Given the description of an element on the screen output the (x, y) to click on. 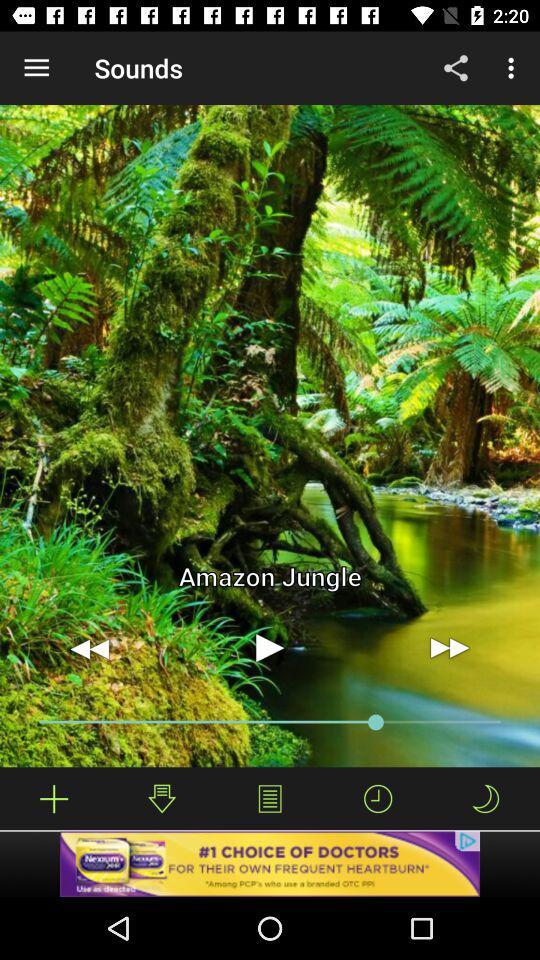
view blink option (485, 798)
